Given the description of an element on the screen output the (x, y) to click on. 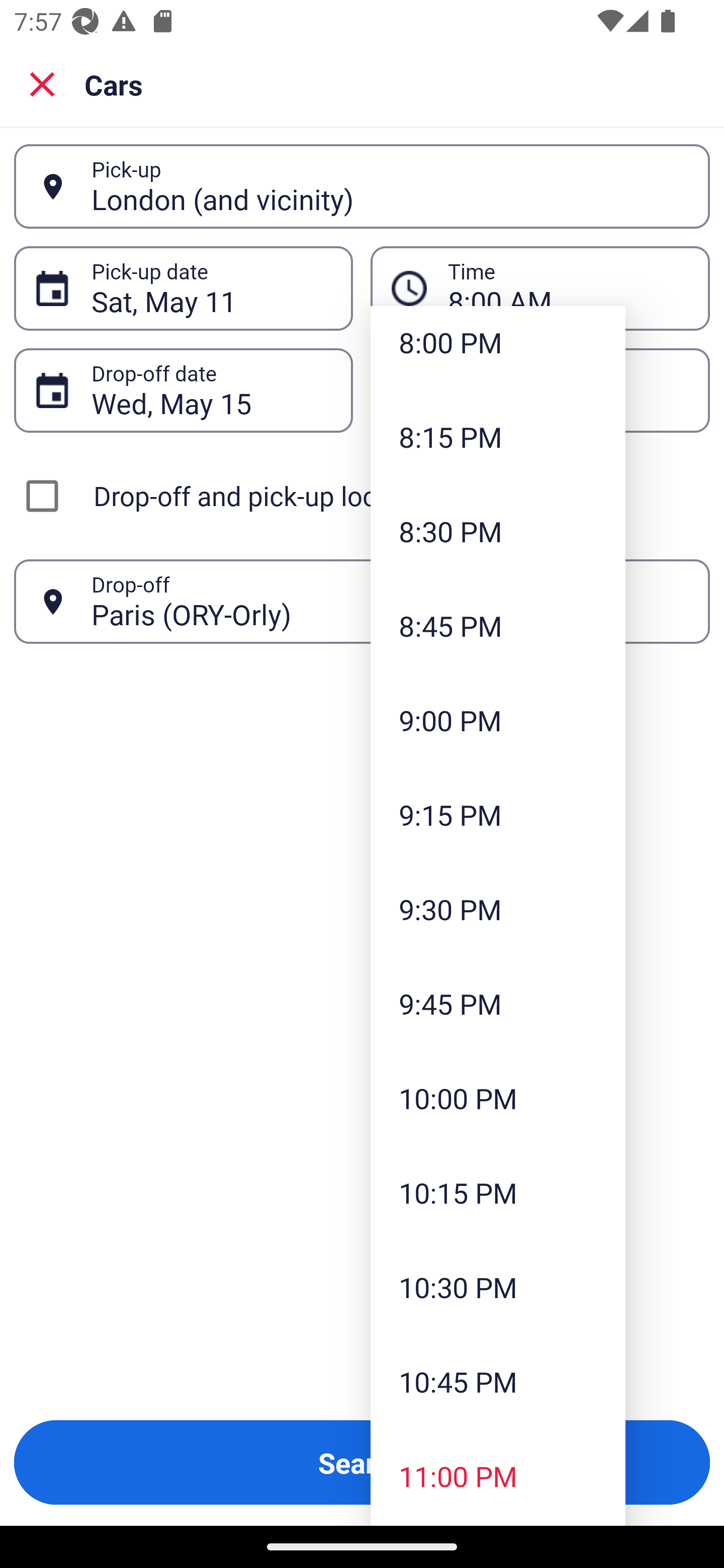
8:00 PM (497, 346)
8:15 PM (497, 436)
8:30 PM (497, 531)
8:45 PM (497, 625)
9:00 PM (497, 719)
9:15 PM (497, 814)
9:30 PM (497, 909)
9:45 PM (497, 1003)
10:00 PM (497, 1097)
10:15 PM (497, 1192)
10:30 PM (497, 1287)
10:45 PM (497, 1381)
11:00 PM (497, 1475)
